Given the description of an element on the screen output the (x, y) to click on. 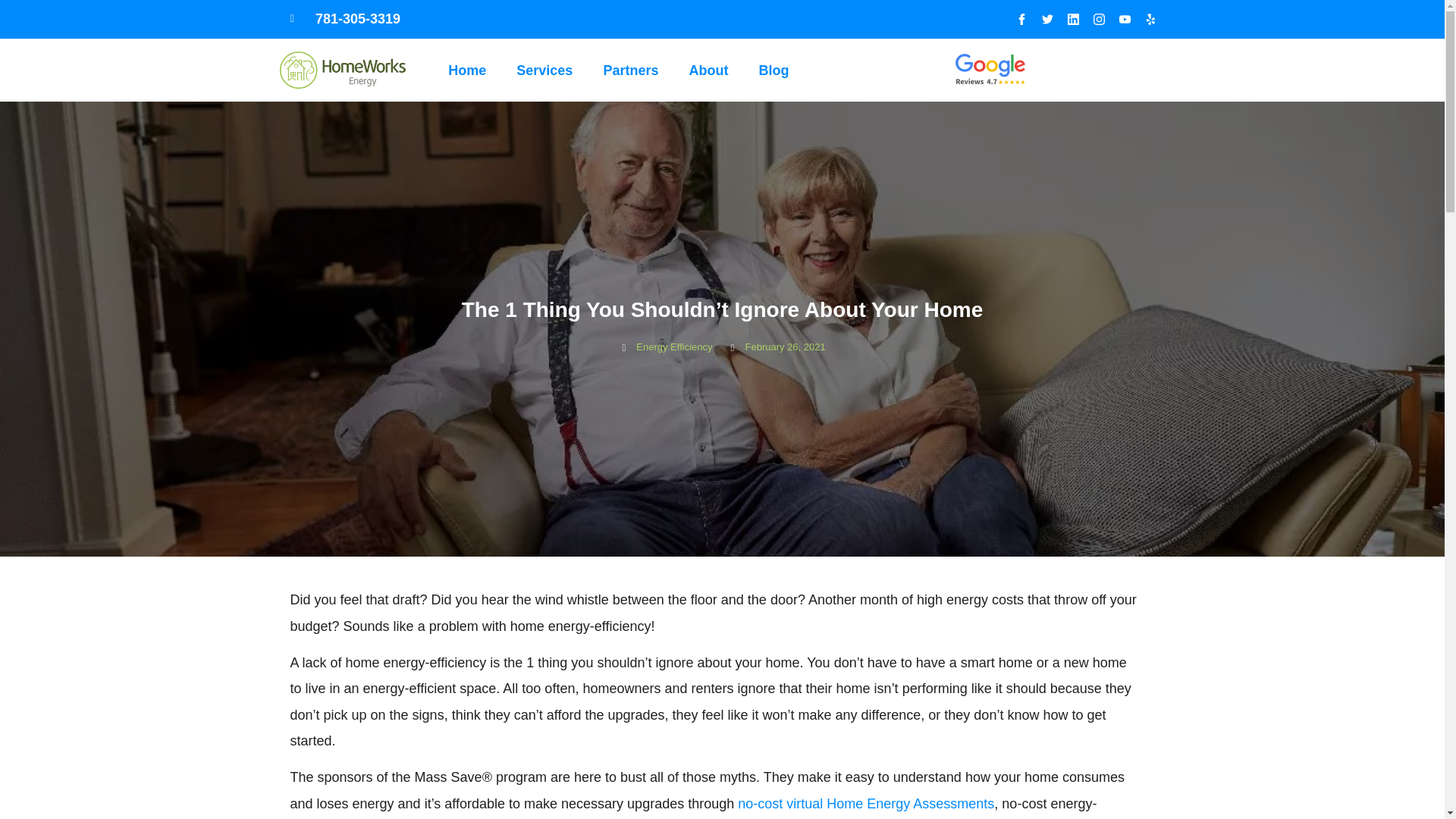
Home (466, 70)
781-305-3319 (441, 19)
Blog (772, 70)
Services (544, 70)
Partners (630, 70)
About (707, 70)
Google-Review-4-7 (990, 69)
